Given the description of an element on the screen output the (x, y) to click on. 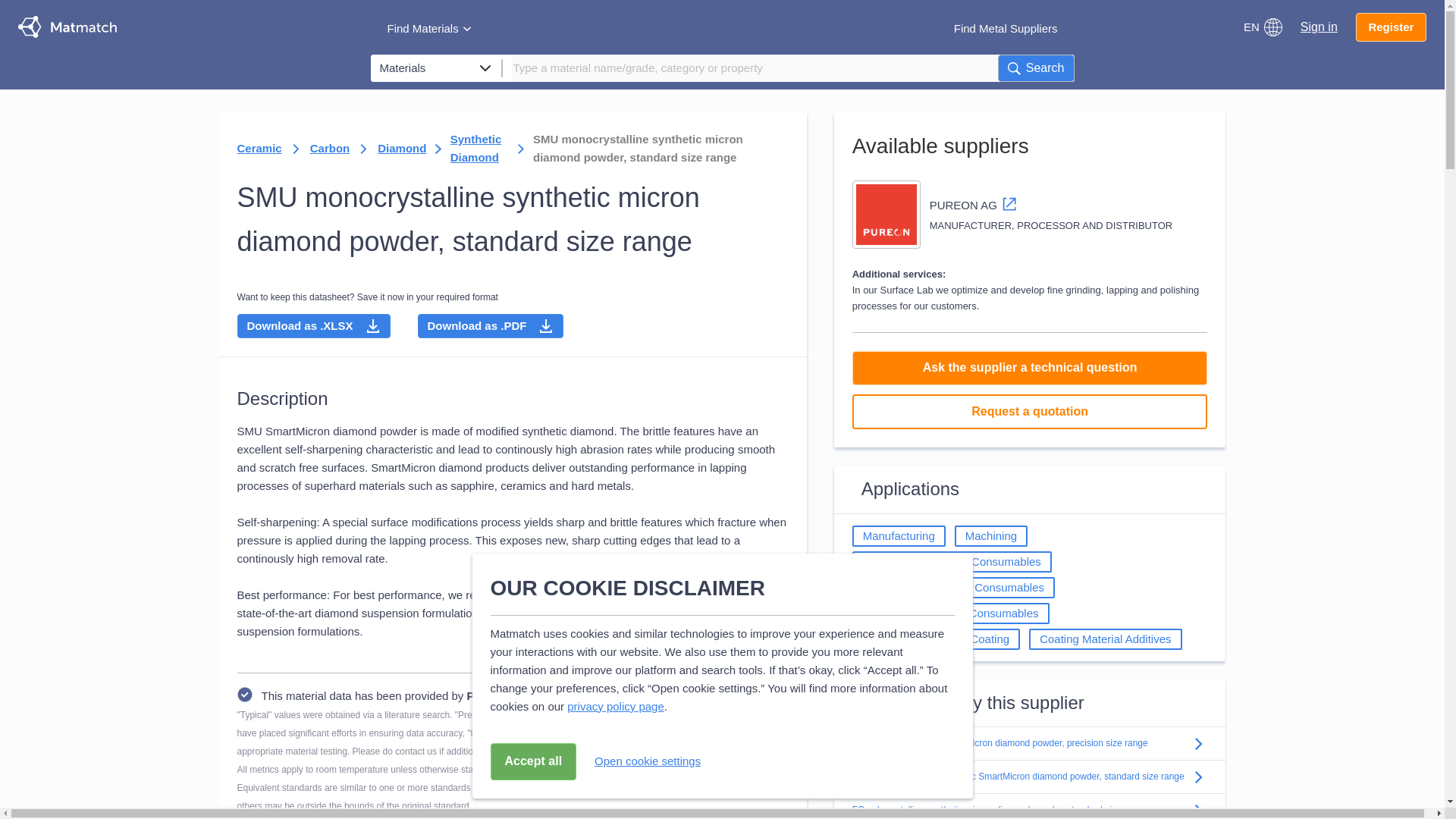
Accept all (532, 761)
privacy policy page (615, 706)
